Given the description of an element on the screen output the (x, y) to click on. 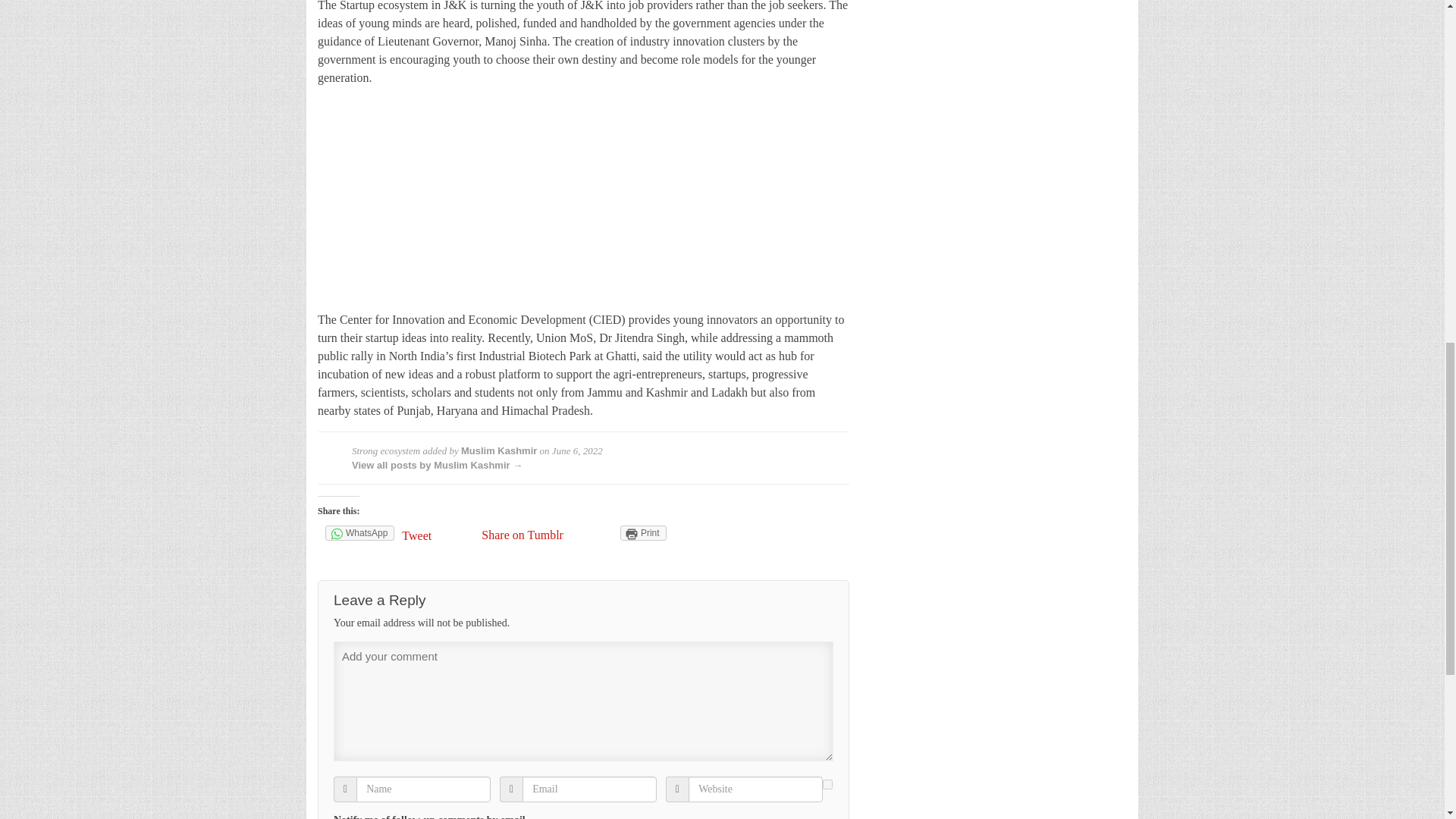
Muslim Kashmir (499, 450)
Print (643, 532)
Share on Tumblr (522, 534)
Tweet (437, 535)
Advertisement (582, 204)
WhatsApp (359, 532)
Click to print (643, 532)
subscribe (827, 784)
Click to share on WhatsApp (359, 532)
Share on Tumblr (522, 534)
